Given the description of an element on the screen output the (x, y) to click on. 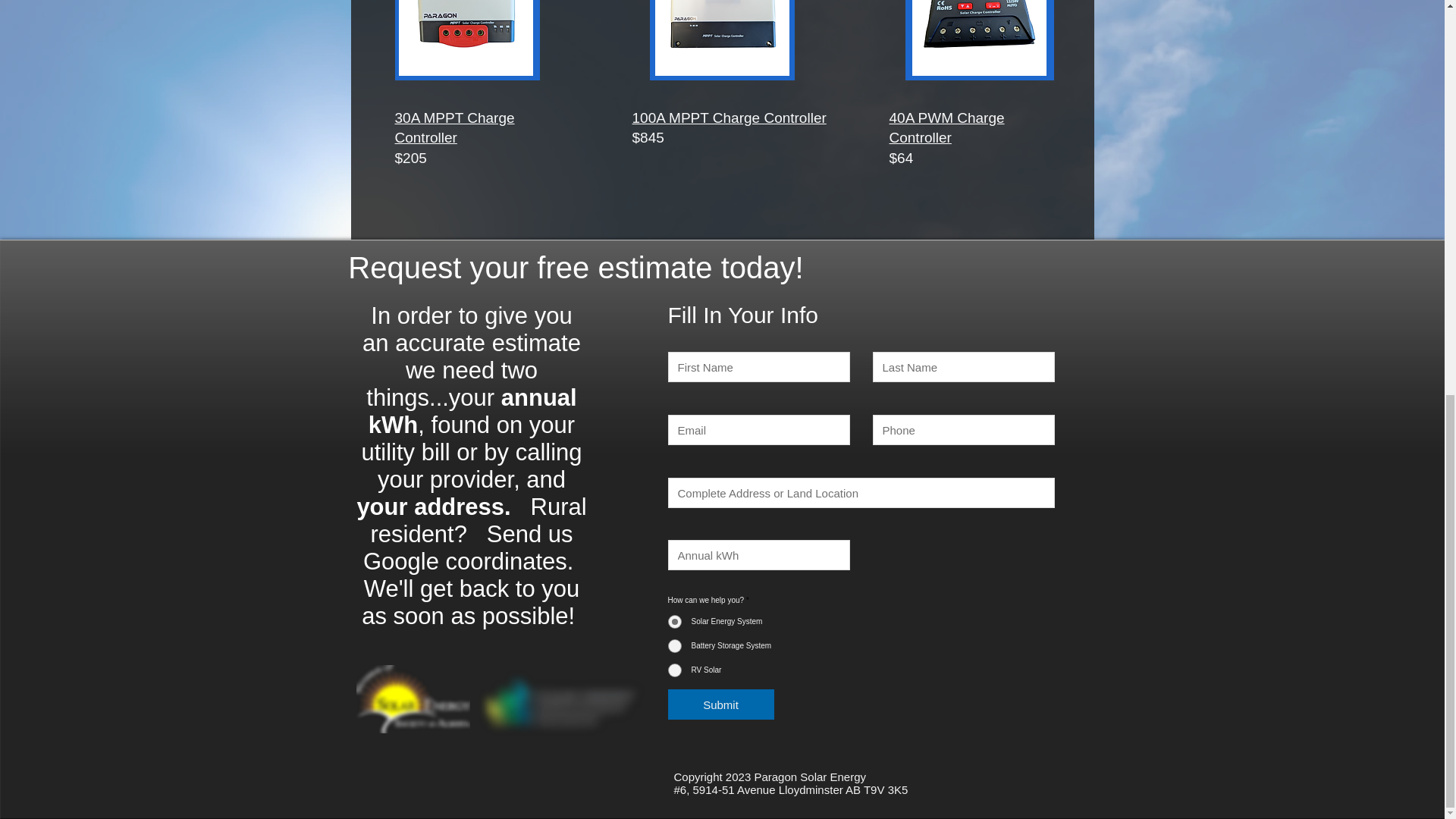
100A MPPT Charge Controller (729, 117)
30A MPPT Charge Controller (453, 127)
40A PWM Charge Controller (946, 127)
